Given the description of an element on the screen output the (x, y) to click on. 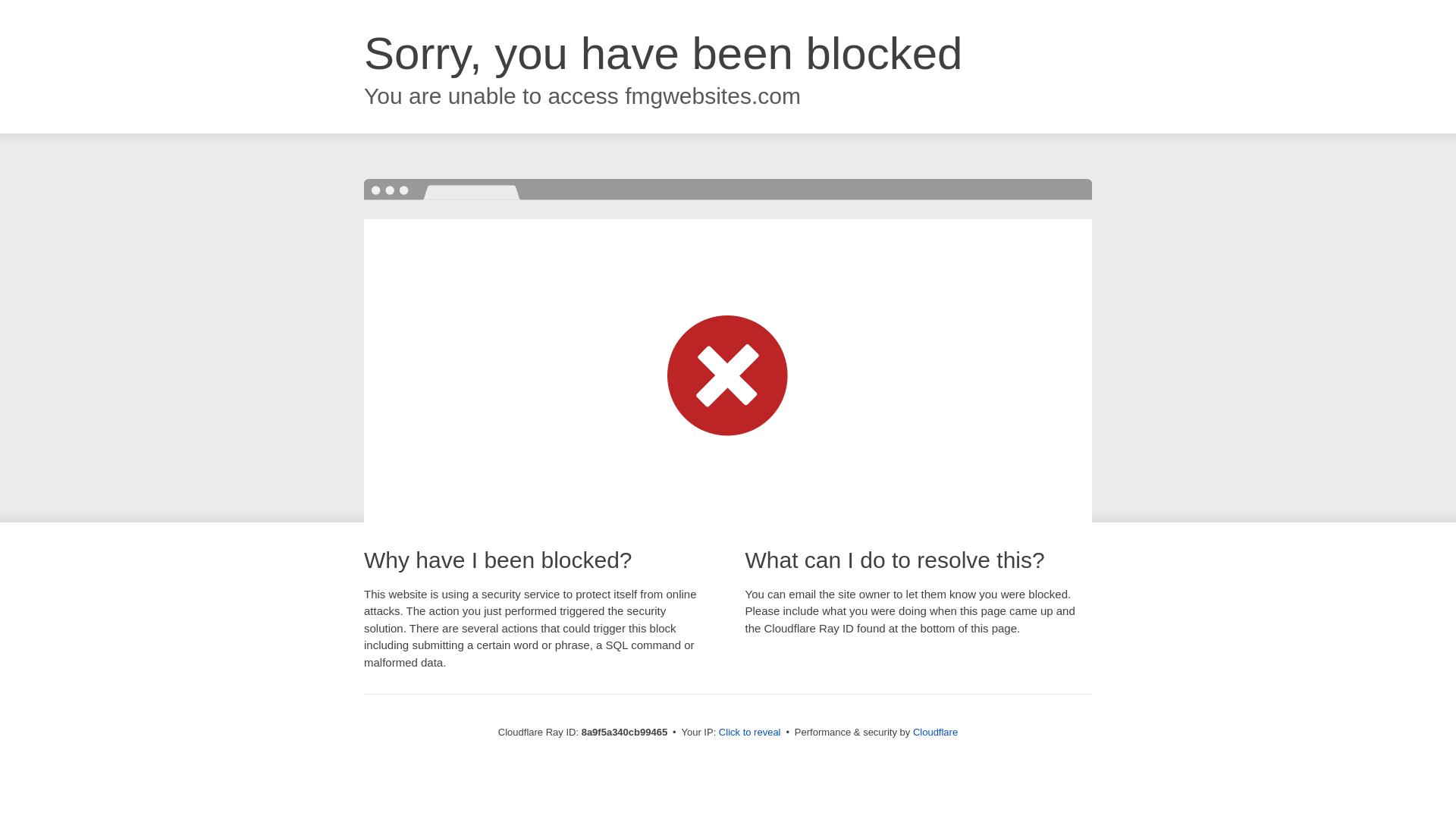
Cloudflare (935, 731)
Click to reveal (749, 732)
